Given the description of an element on the screen output the (x, y) to click on. 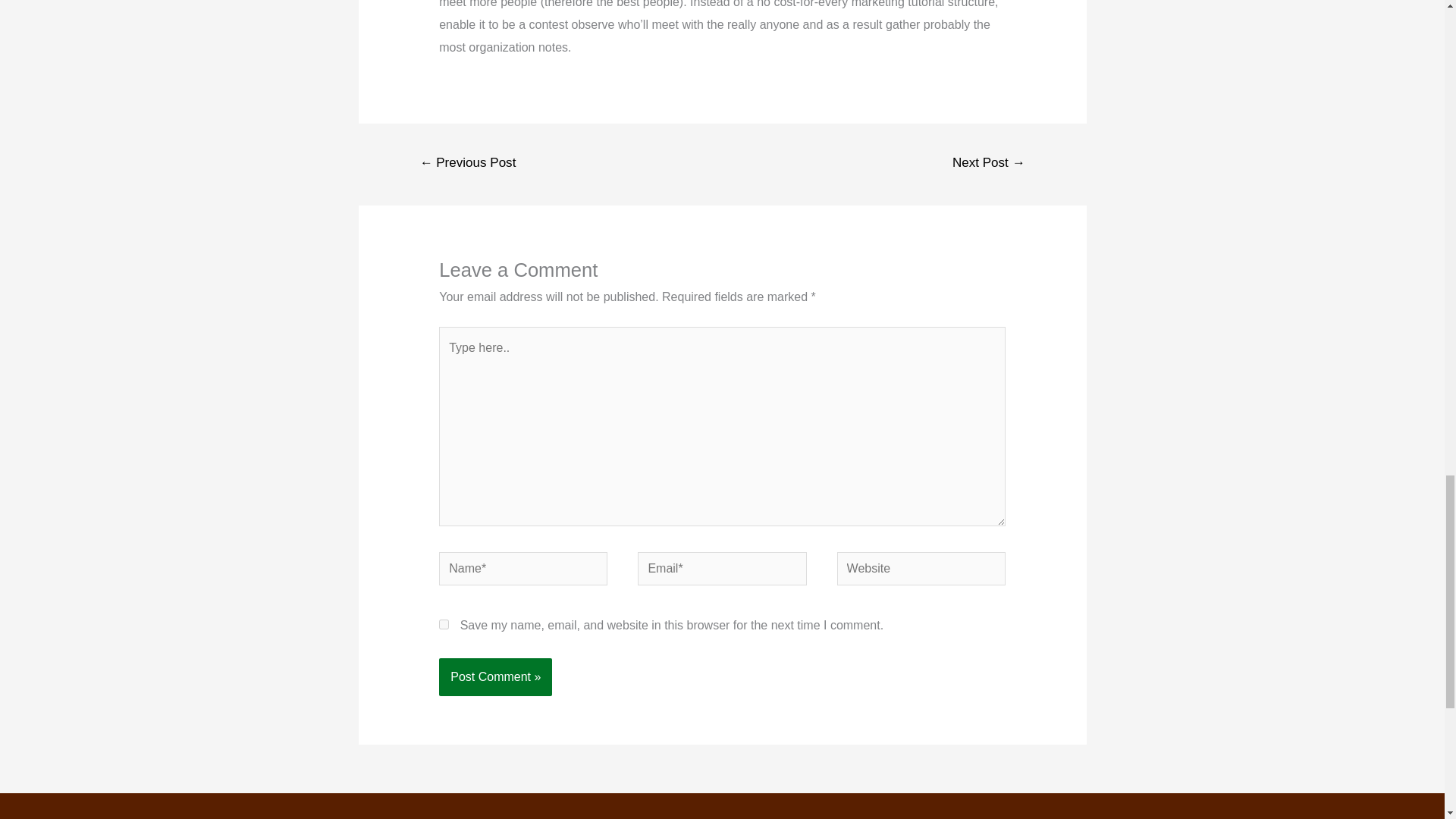
yes (443, 624)
